Given the description of an element on the screen output the (x, y) to click on. 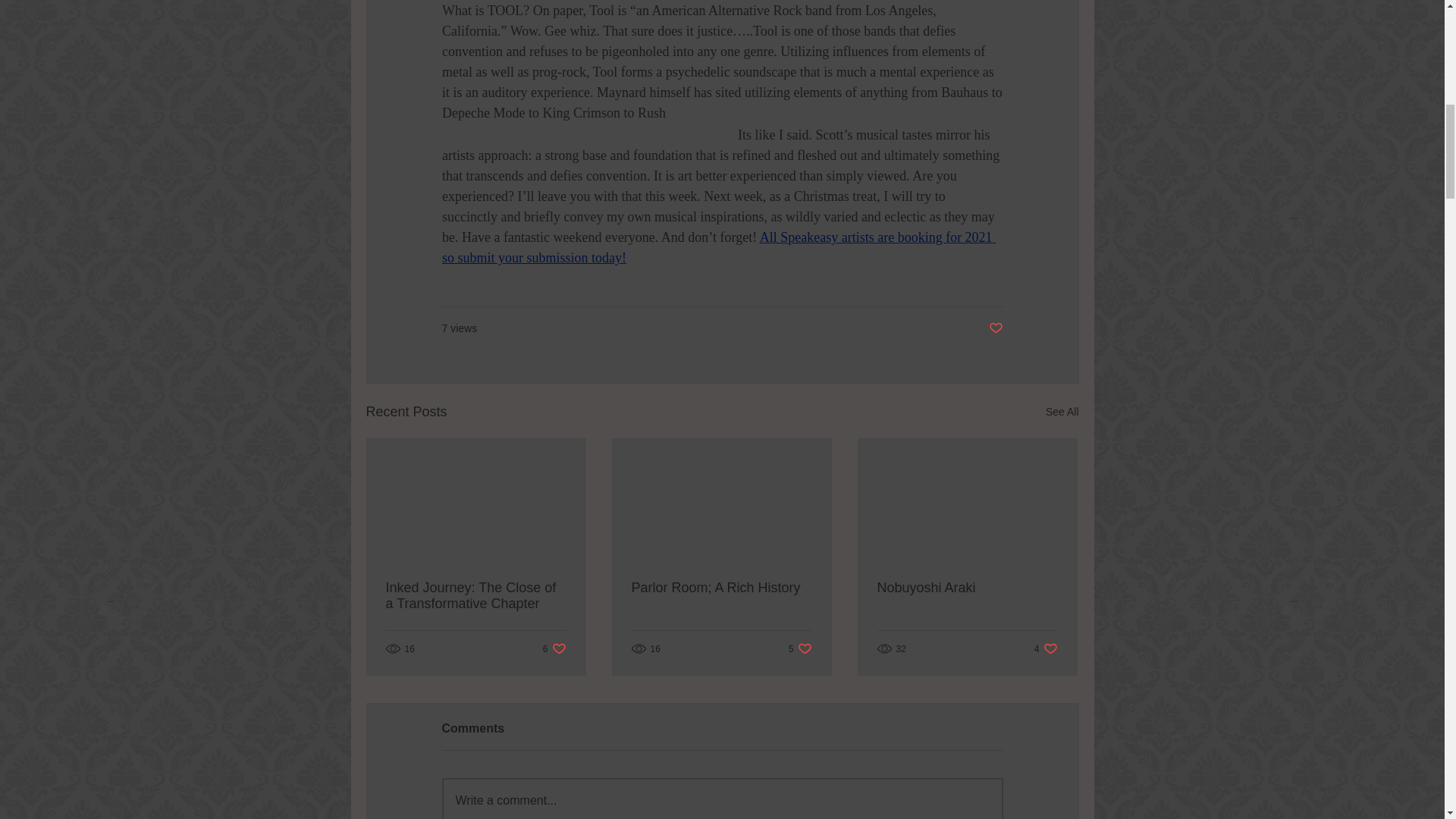
Post not marked as liked (995, 328)
See All (554, 648)
Parlor Room; A Rich History (1061, 412)
Nobuyoshi Araki (720, 587)
Write a comment... (1045, 648)
Inked Journey: The Close of a Transformative Chapter (966, 587)
